Given the description of an element on the screen output the (x, y) to click on. 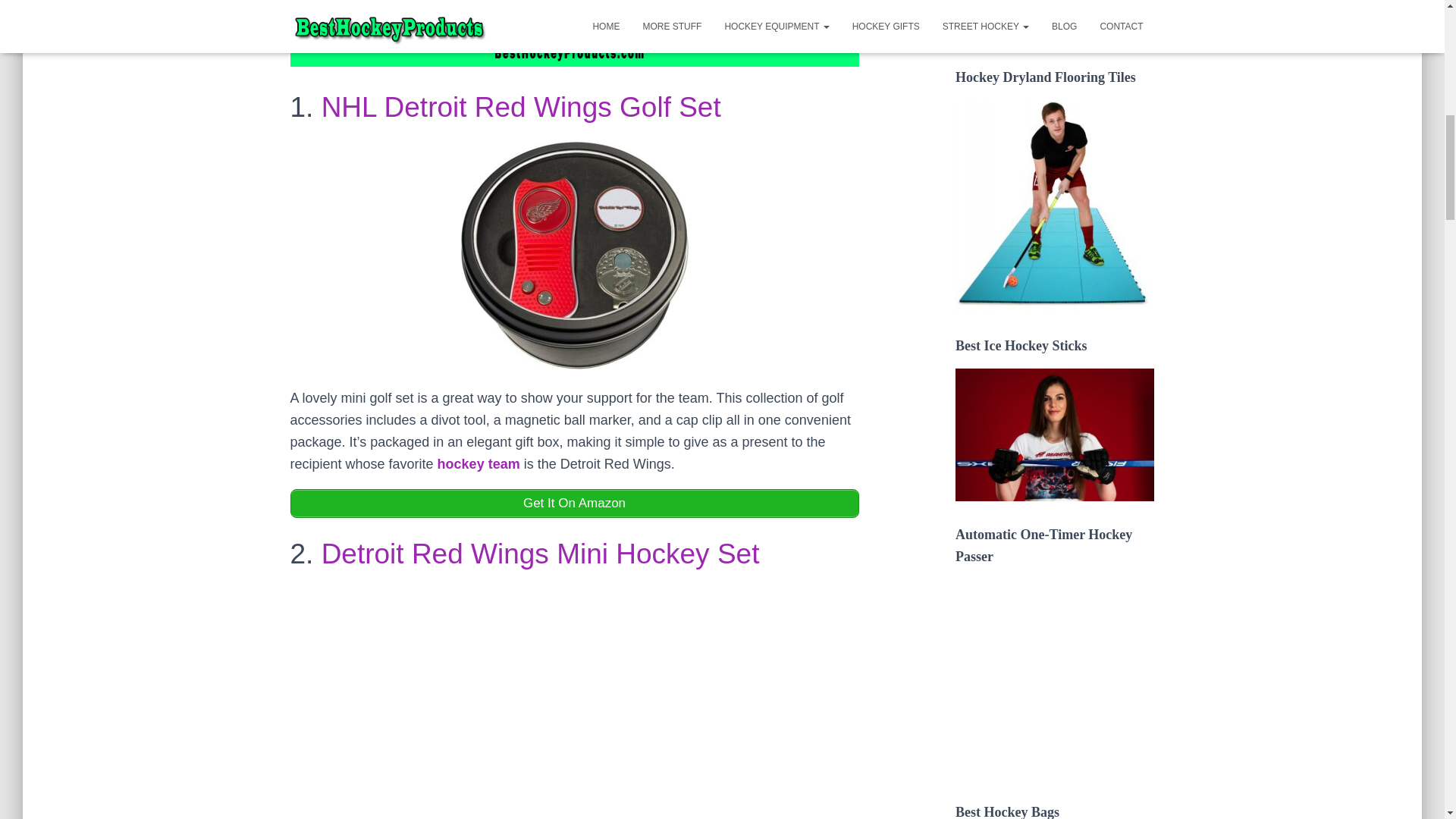
hockey team (478, 463)
Get It On Amazon (574, 502)
Detroit Red Wings Mini Hockey Set (540, 553)
NHL Detroit Red Wings Golf Set (520, 106)
